Given the description of an element on the screen output the (x, y) to click on. 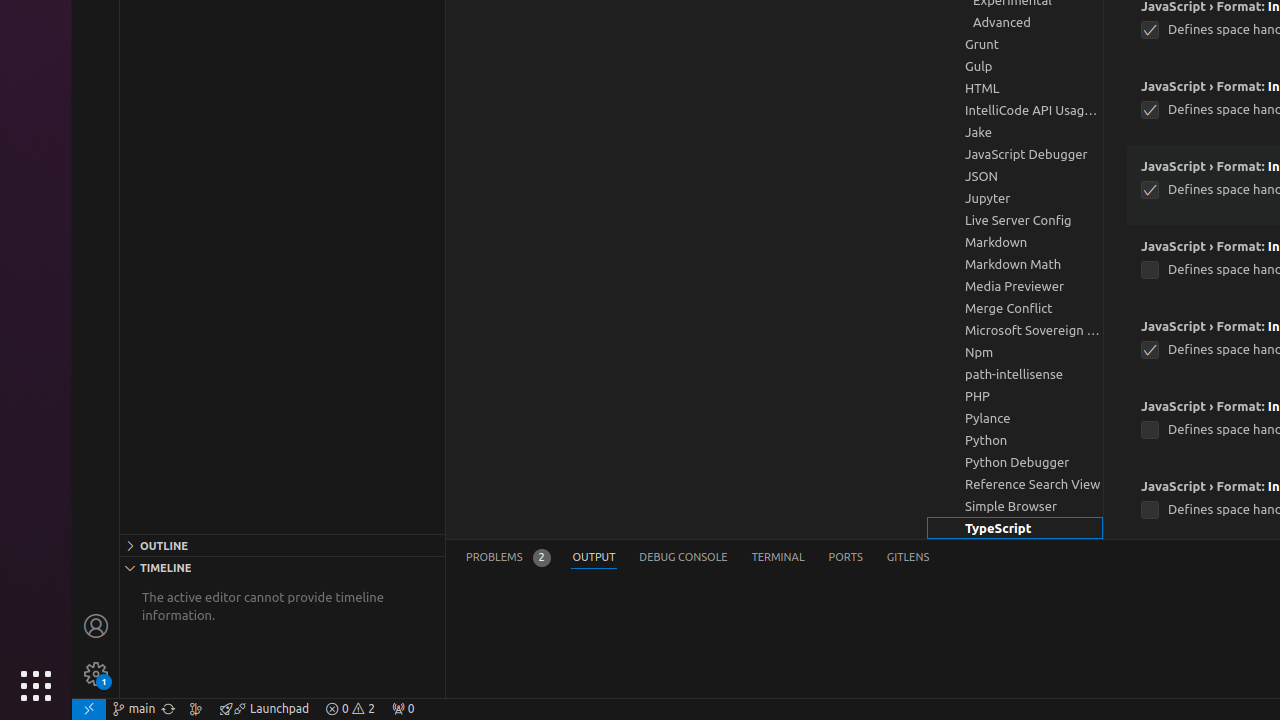
Microsoft Sovereign Cloud, group Element type: tree-item (1015, 330)
Gulp, group Element type: tree-item (1015, 66)
Problems (Ctrl+Shift+M) - Total 2 Problems Element type: page-tab (507, 557)
